Given the description of an element on the screen output the (x, y) to click on. 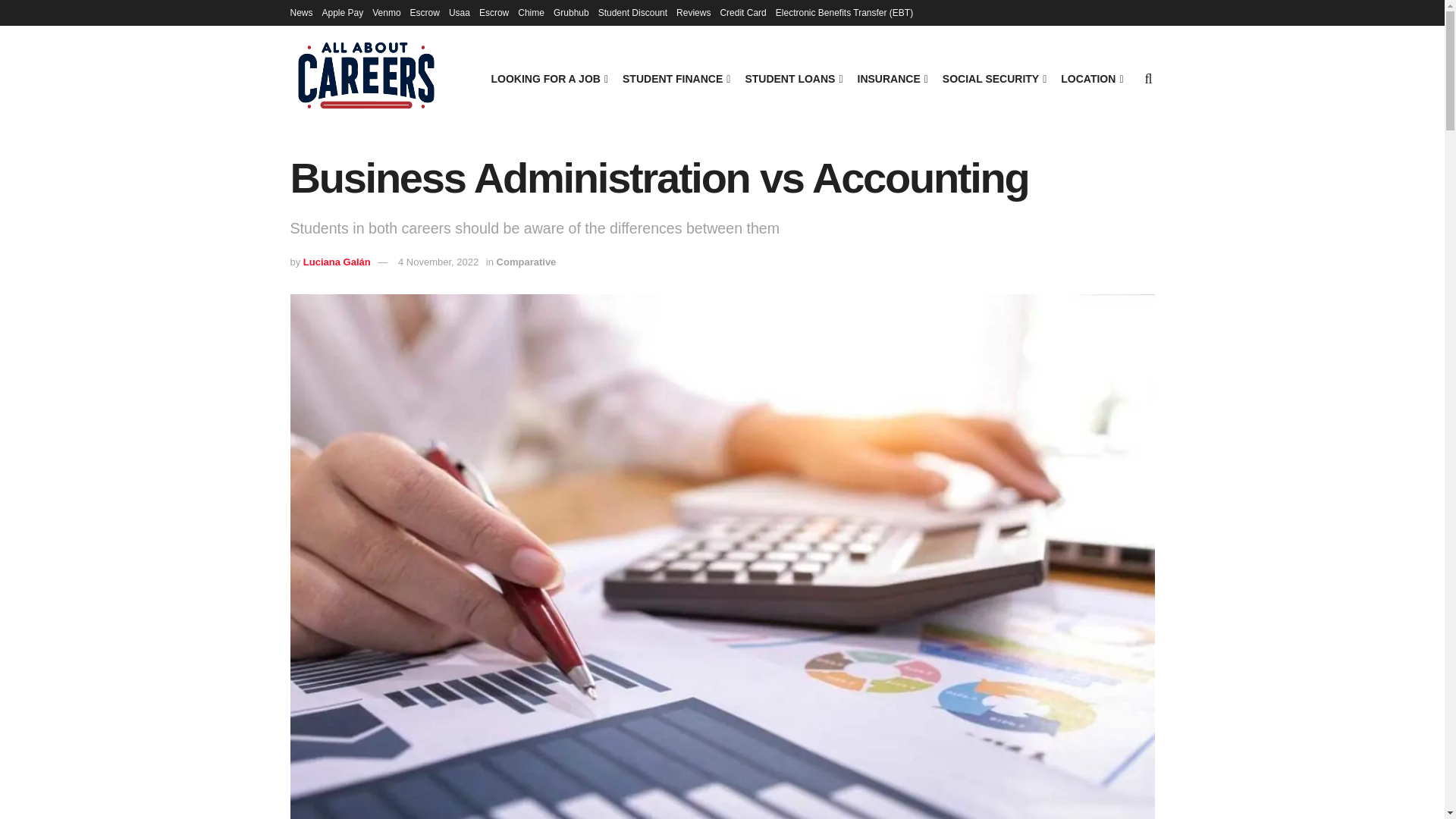
Grubhub (571, 12)
Credit Card (742, 12)
Escrow (493, 12)
Escrow (424, 12)
Chime (531, 12)
Student Discount (632, 12)
Apple Pay (342, 12)
Venmo (386, 12)
Reviews (693, 12)
LOOKING FOR A JOB (547, 78)
STUDENT FINANCE (675, 78)
